Given the description of an element on the screen output the (x, y) to click on. 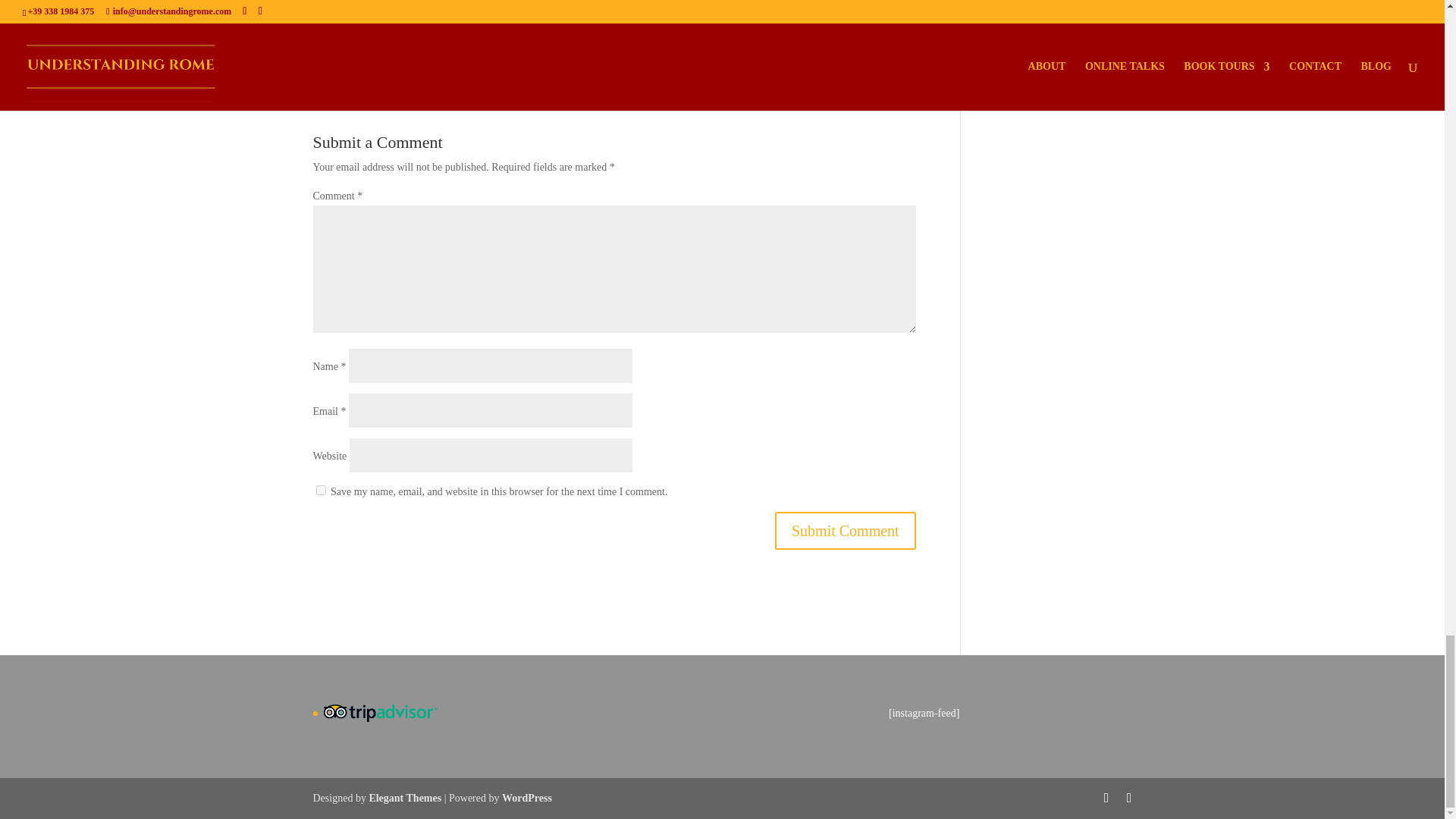
yes (319, 490)
Submit Comment (844, 530)
Premium WordPress Themes (404, 797)
Submit Comment (844, 530)
Reply (902, 33)
